Given the description of an element on the screen output the (x, y) to click on. 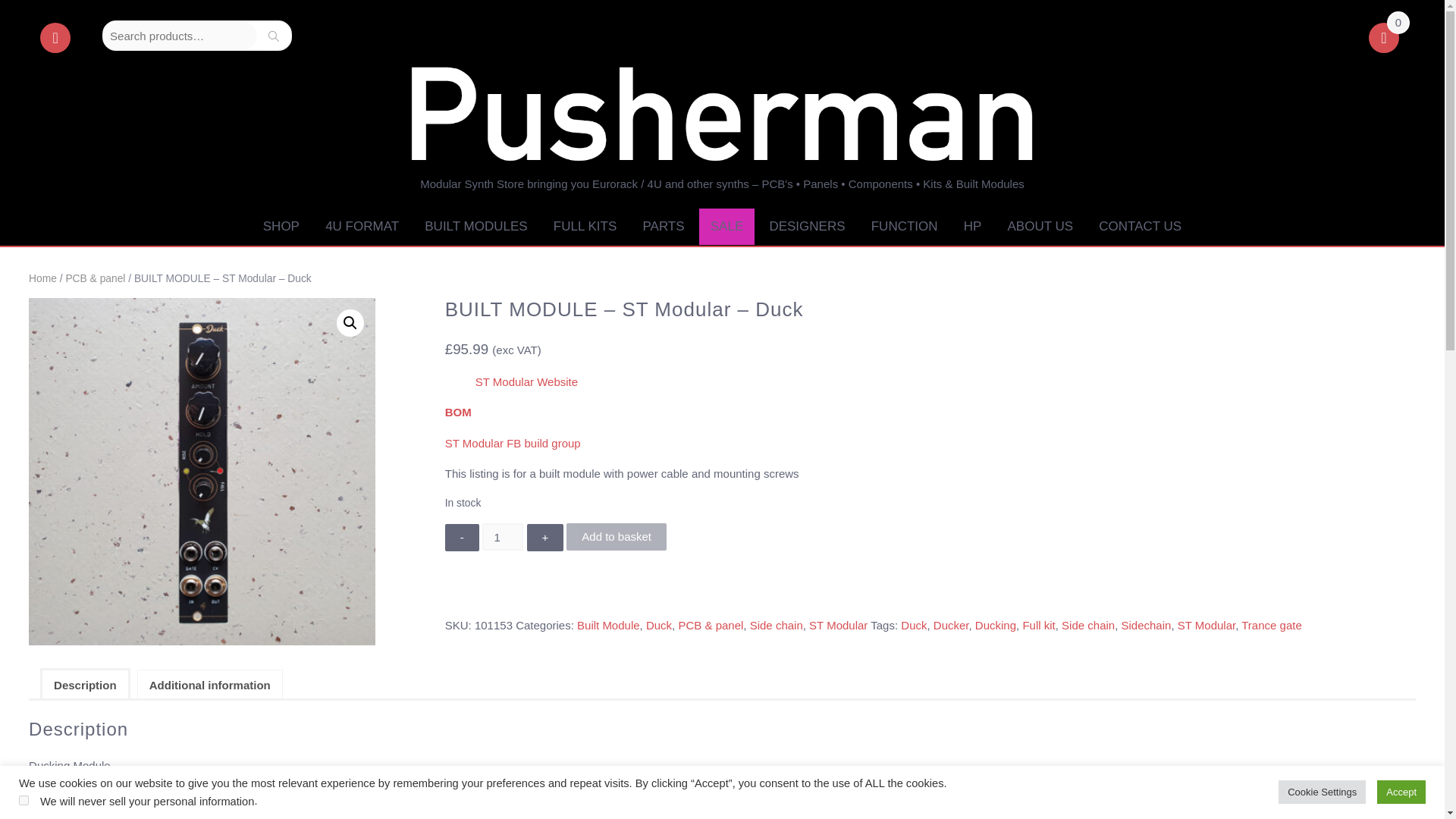
on (23, 800)
BUILT MODULES (475, 226)
0 (1383, 38)
PARTS (662, 226)
Duck module (202, 471)
FUNCTION (904, 226)
SHOP (281, 226)
- (462, 537)
PayPal (930, 594)
FULL KITS (584, 226)
